Given the description of an element on the screen output the (x, y) to click on. 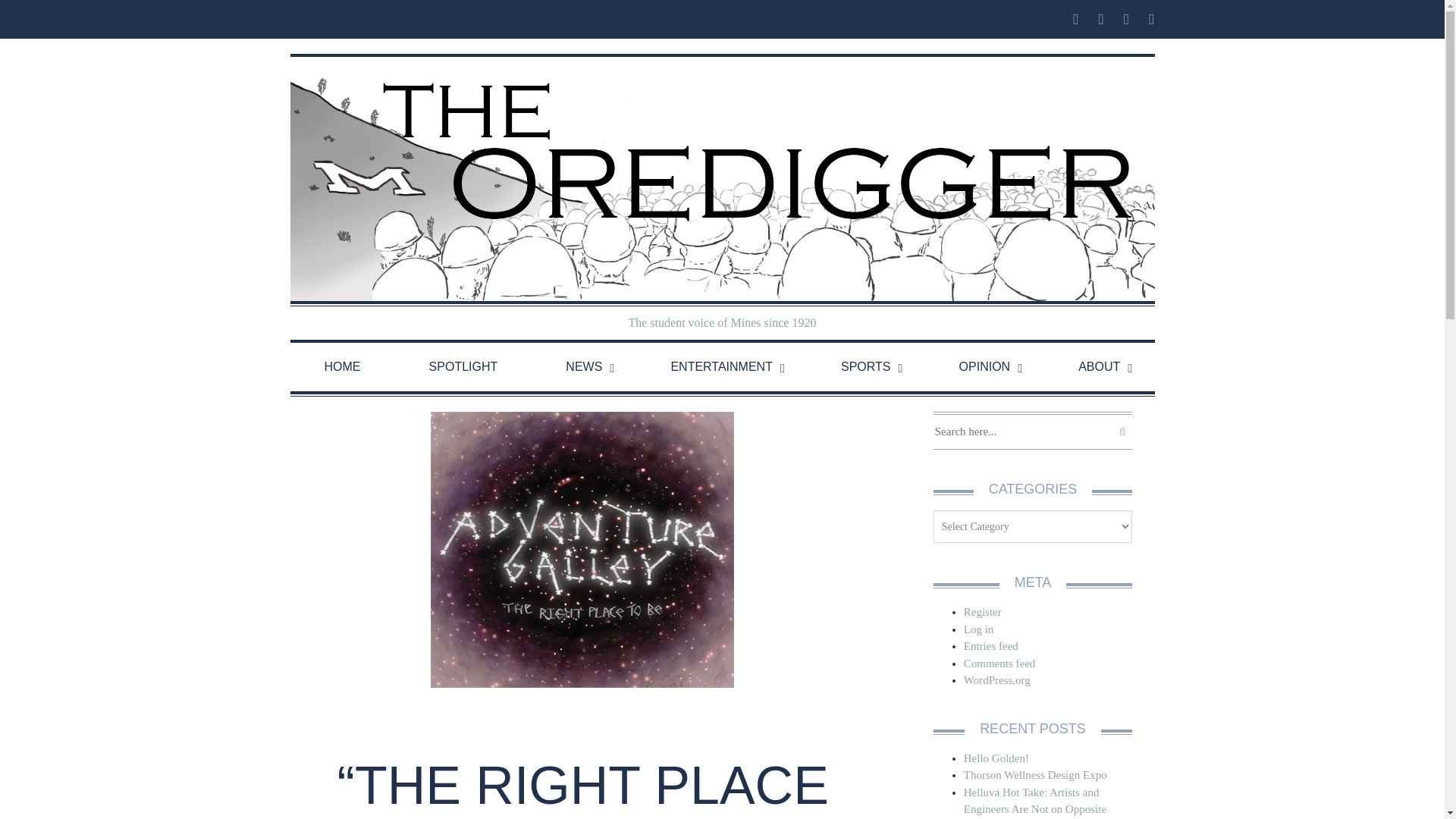
ABOUT (1098, 367)
OPINION (984, 367)
Go back to home (721, 179)
HOME (341, 367)
NEWS (583, 367)
ENTERTAINMENT (721, 367)
SPOTLIGHT (463, 367)
SPORTS (865, 367)
